Given the description of an element on the screen output the (x, y) to click on. 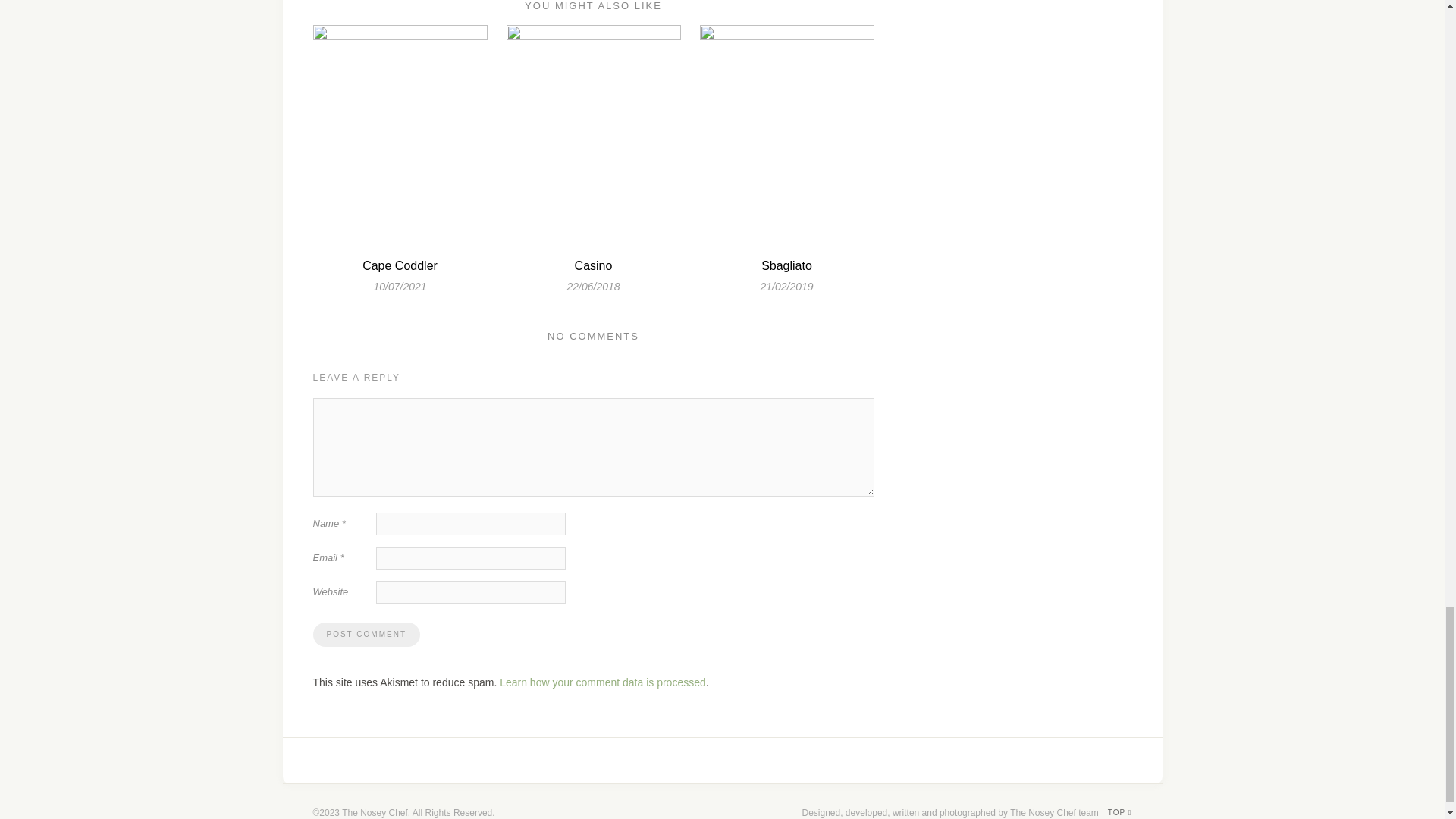
Post Comment (366, 634)
Casino (593, 265)
Sbagliato (786, 265)
Post Comment (366, 634)
Cape Coddler (400, 265)
Learn how your comment data is processed (602, 682)
